Given the description of an element on the screen output the (x, y) to click on. 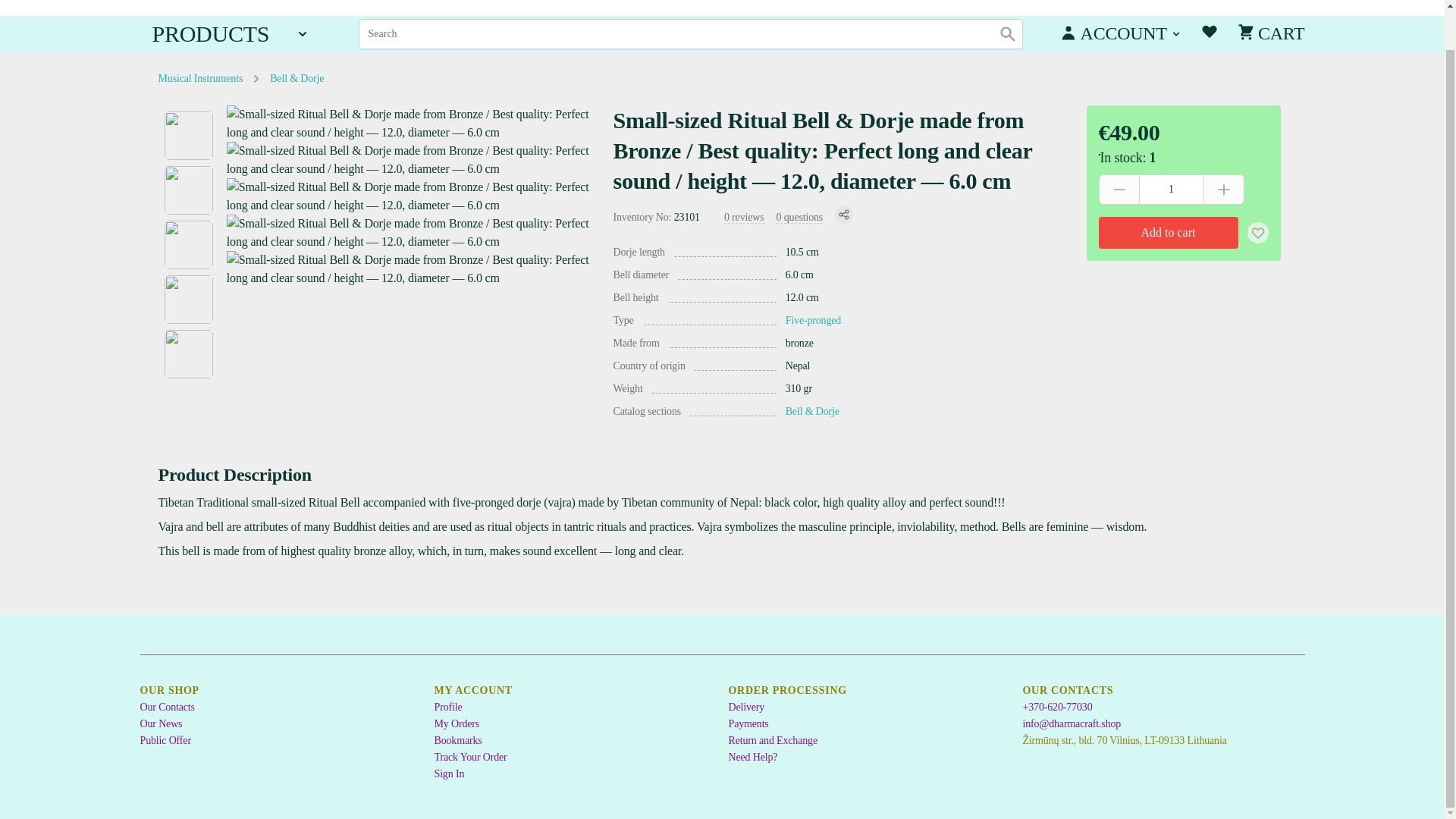
PRODUCTS (230, 33)
1 (1171, 189)
